Given the description of an element on the screen output the (x, y) to click on. 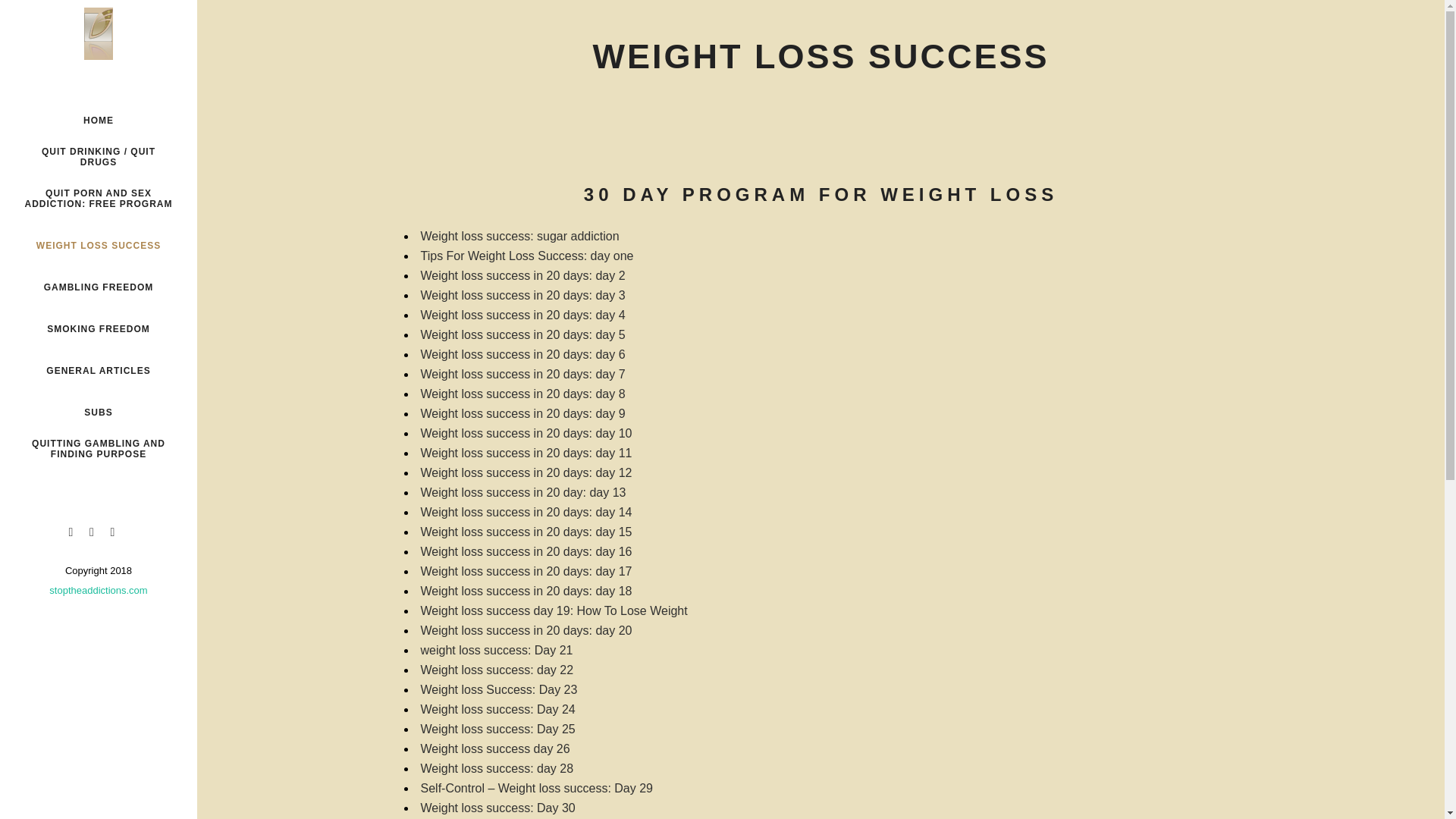
Weight loss success in 20 days: day 10 (525, 432)
Weight loss success in 20 day: day 13 (523, 492)
Weight loss success in 20 days: day 3 (522, 295)
WEIGHT LOSS SUCCESS (98, 245)
GENERAL ARTICLES (98, 371)
Weight loss success in 20 days: day 5 (522, 334)
Weight loss success in 20 days: day 12 (525, 472)
Weight loss success in 20 days: day 9 (522, 413)
Weight loss success: sugar addiction (519, 236)
QUIT PORN AND SEX ADDICTION: FREE PROGRAM (98, 204)
Tips For Weight Loss Success: day one (526, 255)
SUBS (98, 413)
Weight loss success in 20 days: day 11 (525, 452)
Weight loss success in 20 days: day 14 (525, 512)
Weight loss success in 20 days: day 4 (522, 314)
